Given the description of an element on the screen output the (x, y) to click on. 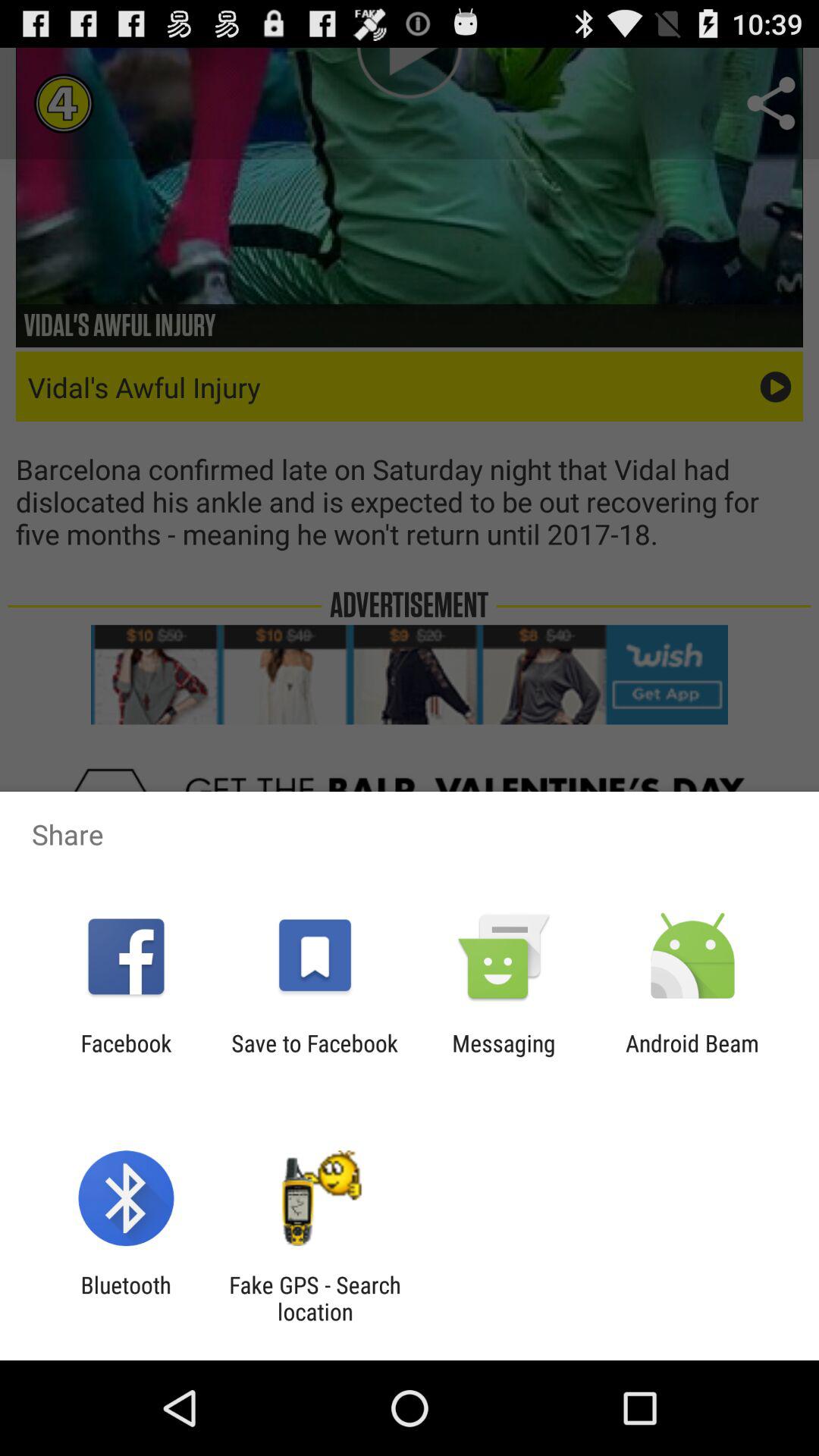
flip to messaging icon (503, 1056)
